Given the description of an element on the screen output the (x, y) to click on. 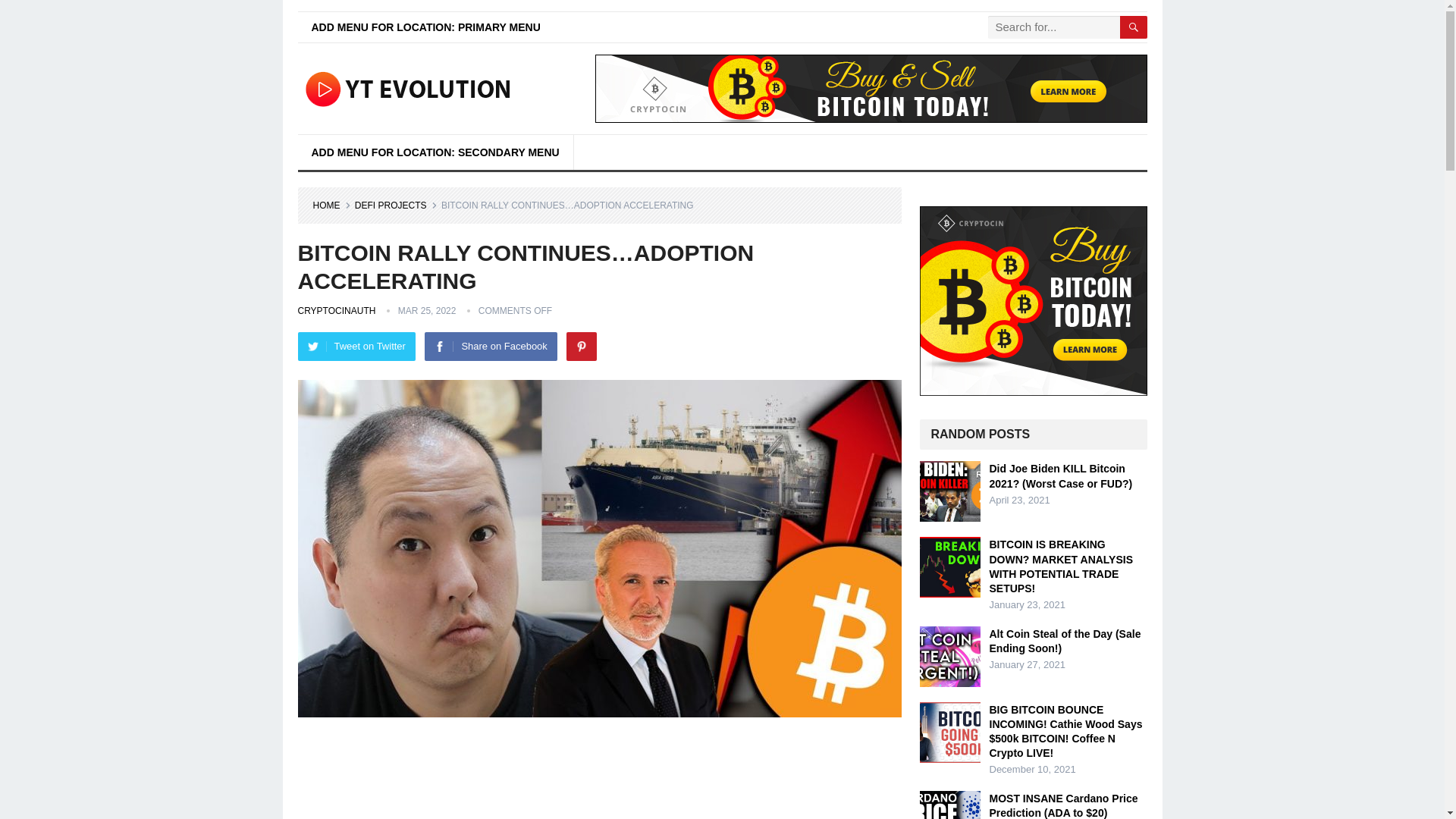
Posts by CryptocinAuth (336, 310)
ADD MENU FOR LOCATION: SECONDARY MENU (434, 152)
Tweet on Twitter (355, 346)
View all posts in Defi Projects (396, 204)
HOME (331, 204)
DEFI PROJECTS (396, 204)
ADD MENU FOR LOCATION: PRIMARY MENU (425, 27)
YouTube video player (599, 776)
CRYPTOCINAUTH (336, 310)
Pinterest (581, 346)
